Given the description of an element on the screen output the (x, y) to click on. 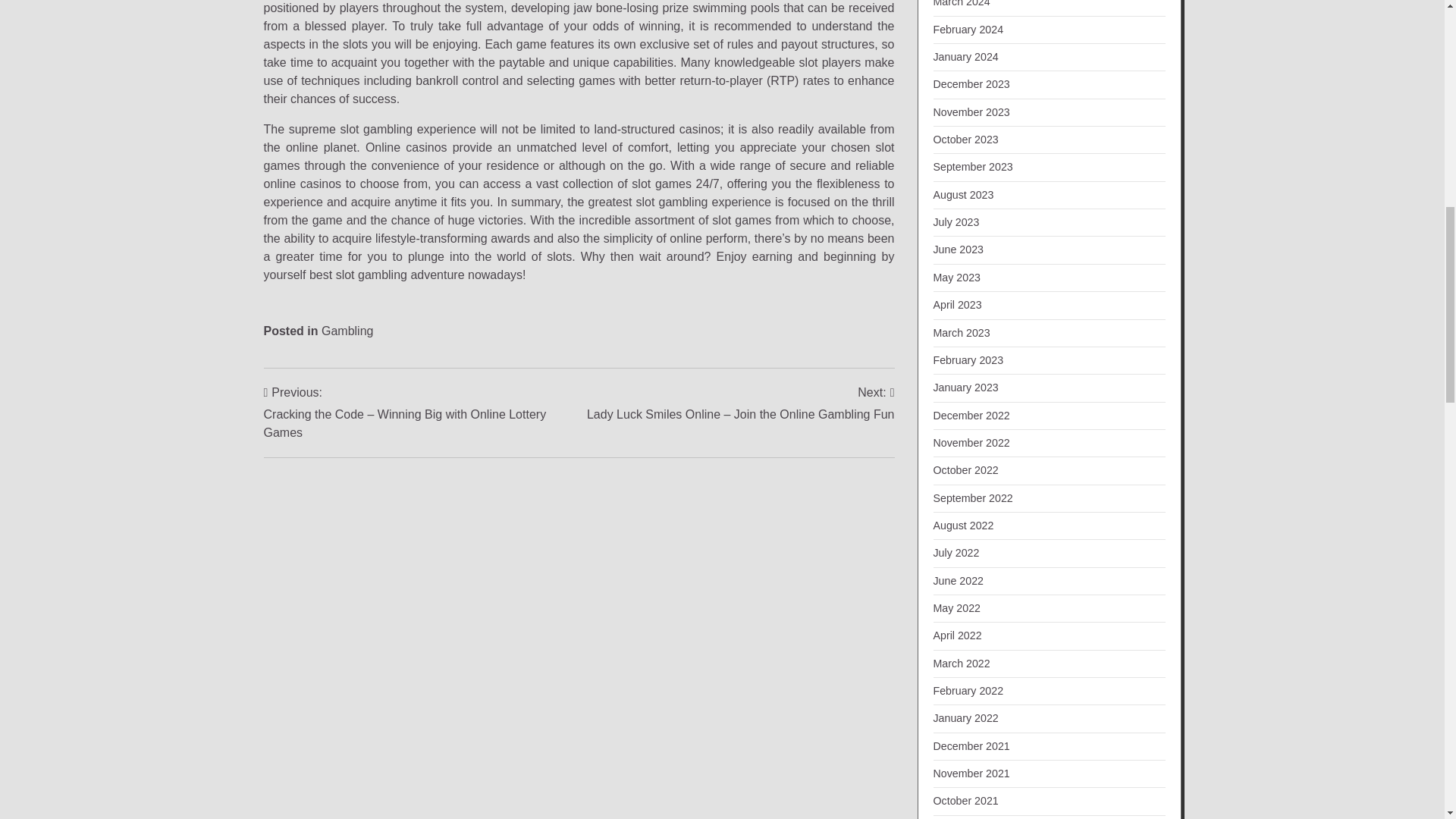
March 2024 (961, 3)
October 2023 (965, 139)
July 2023 (955, 222)
June 2023 (958, 249)
January 2024 (965, 56)
February 2024 (968, 29)
September 2023 (972, 166)
November 2023 (971, 111)
December 2023 (971, 83)
May 2023 (956, 277)
